Given the description of an element on the screen output the (x, y) to click on. 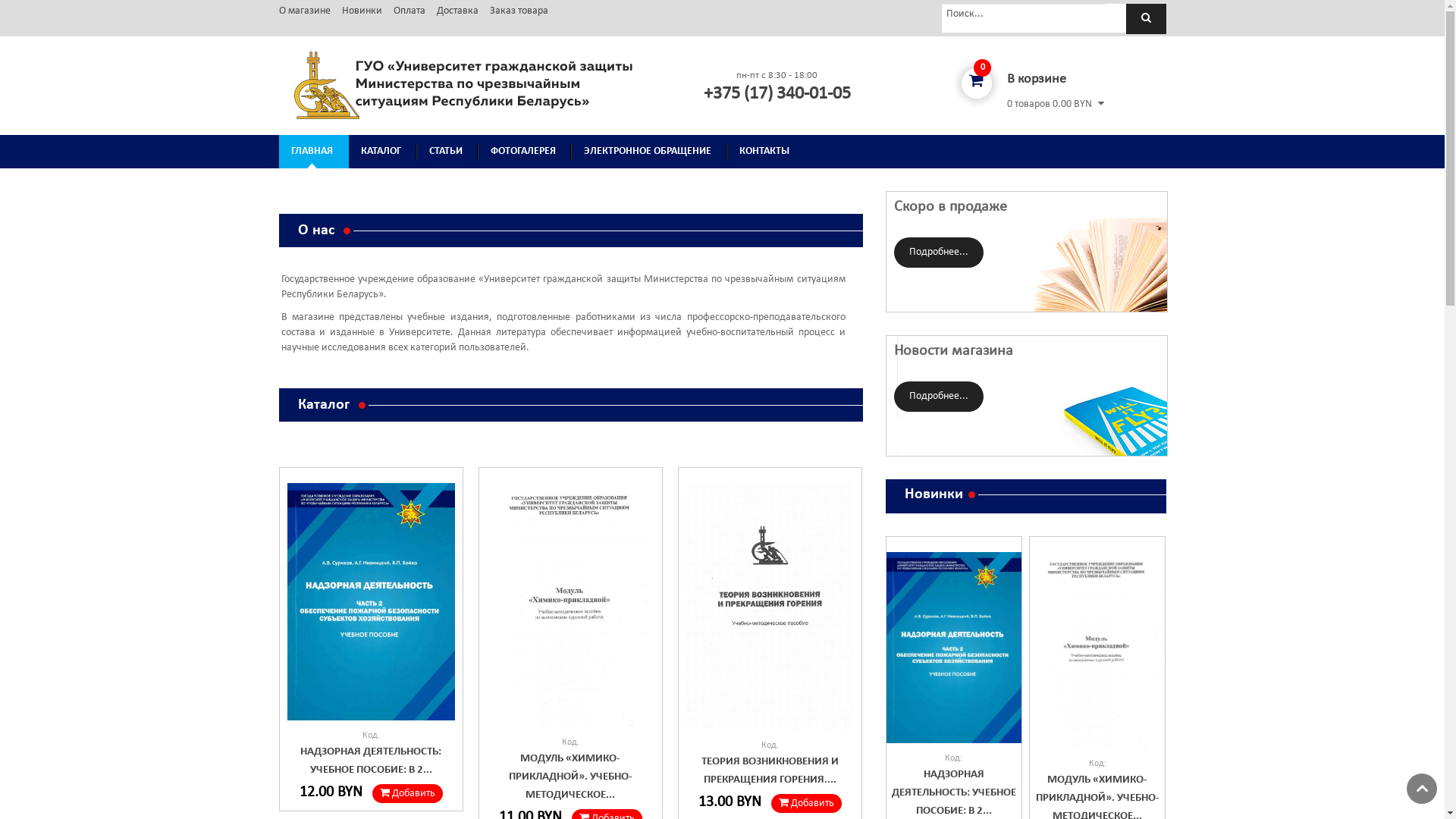
+375 (17) 340-01-05 Element type: text (776, 93)
Goto Top Element type: hover (1421, 788)
